Given the description of an element on the screen output the (x, y) to click on. 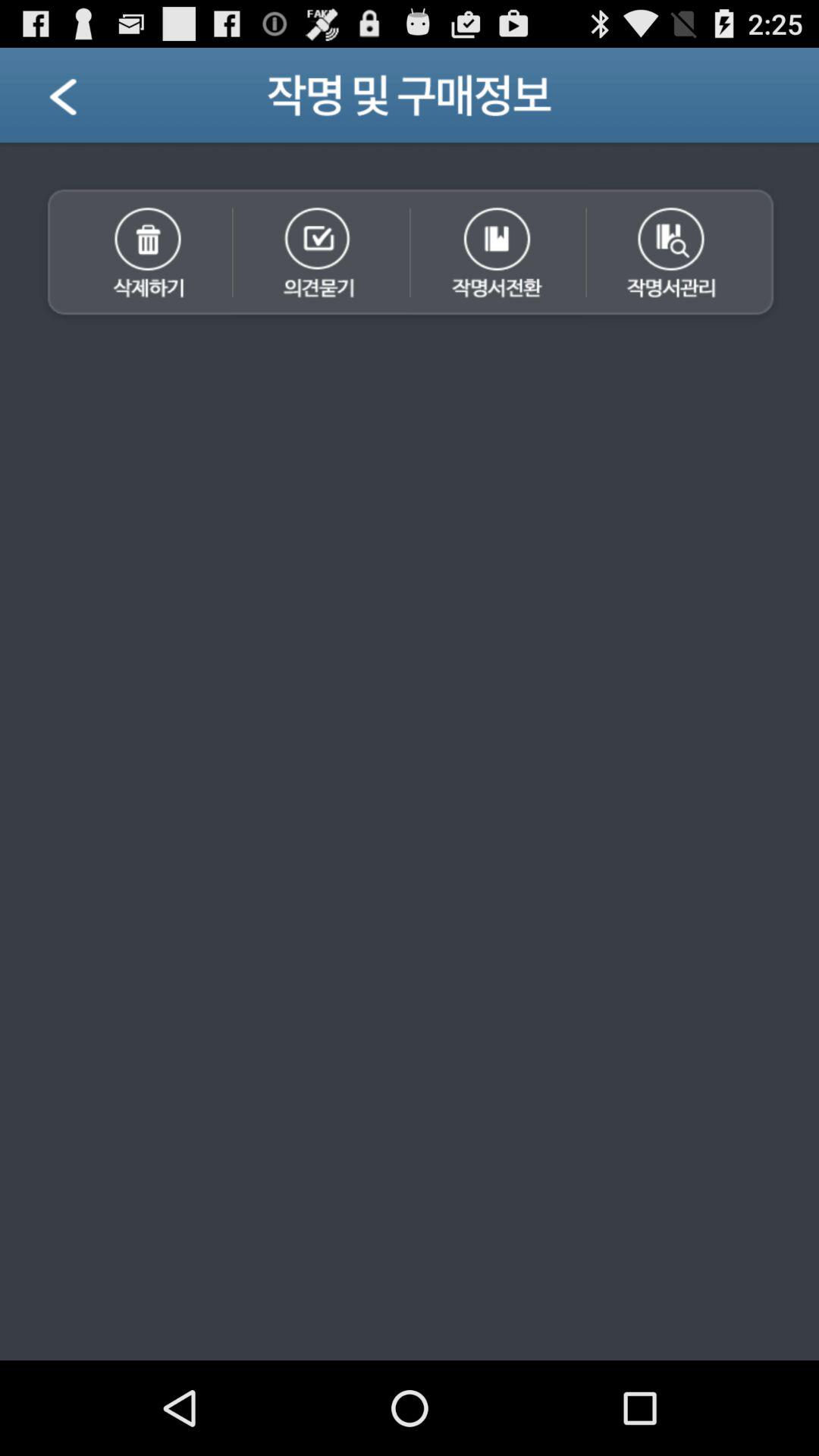
acctivate 4th icon (684, 253)
